Given the description of an element on the screen output the (x, y) to click on. 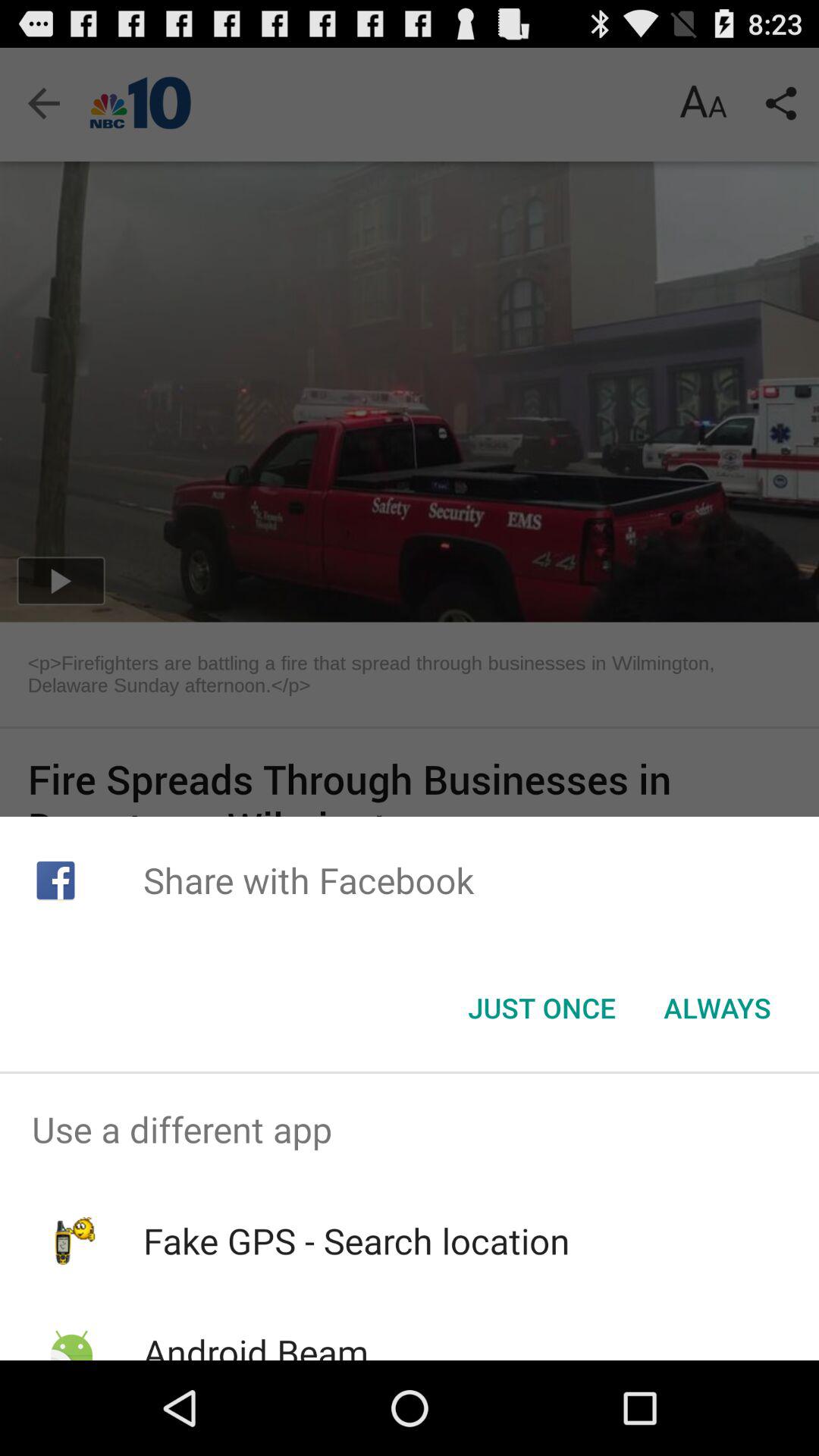
launch the item above the android beam icon (356, 1240)
